Given the description of an element on the screen output the (x, y) to click on. 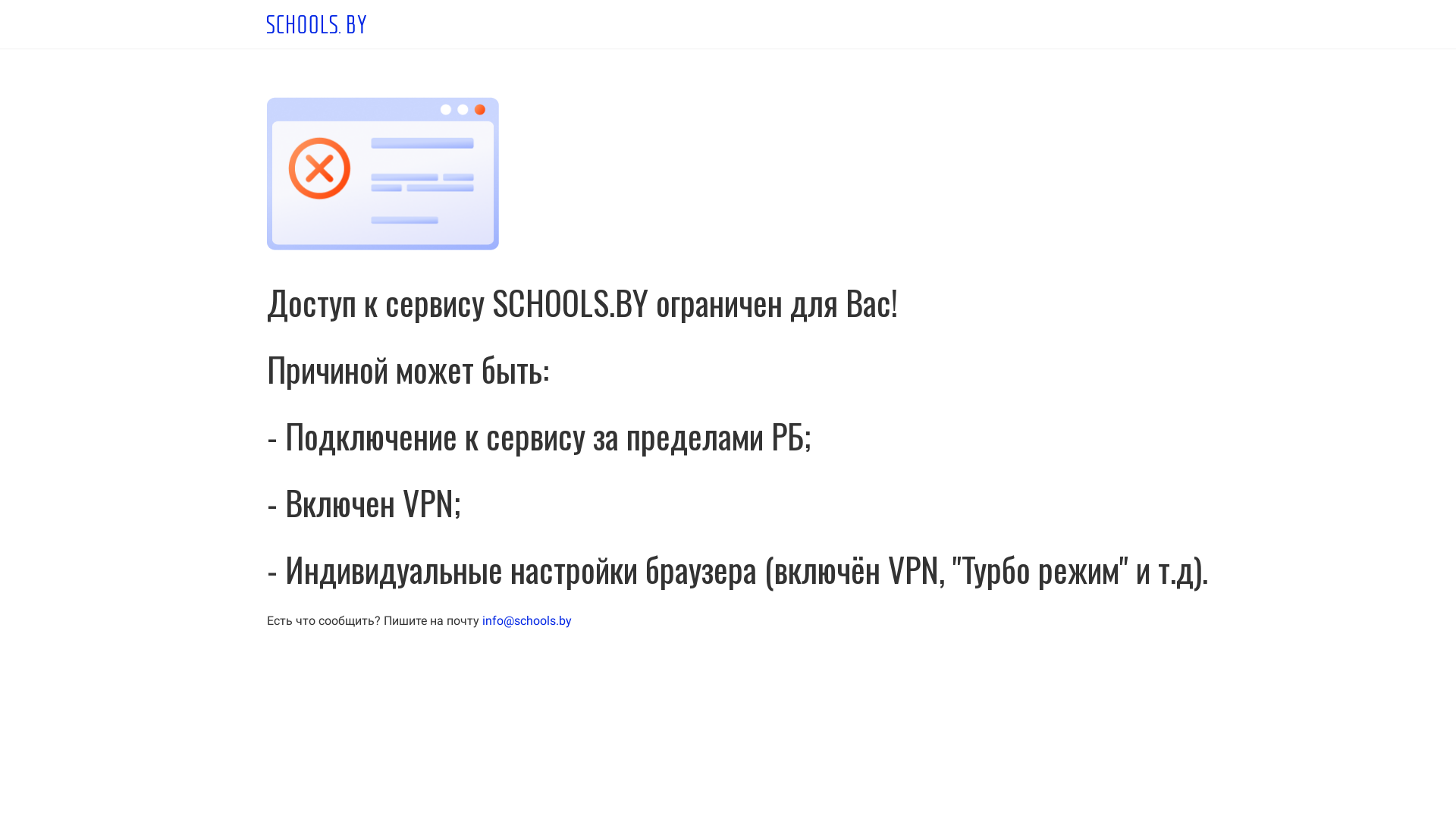
info@schools.by Element type: text (526, 620)
